Given the description of an element on the screen output the (x, y) to click on. 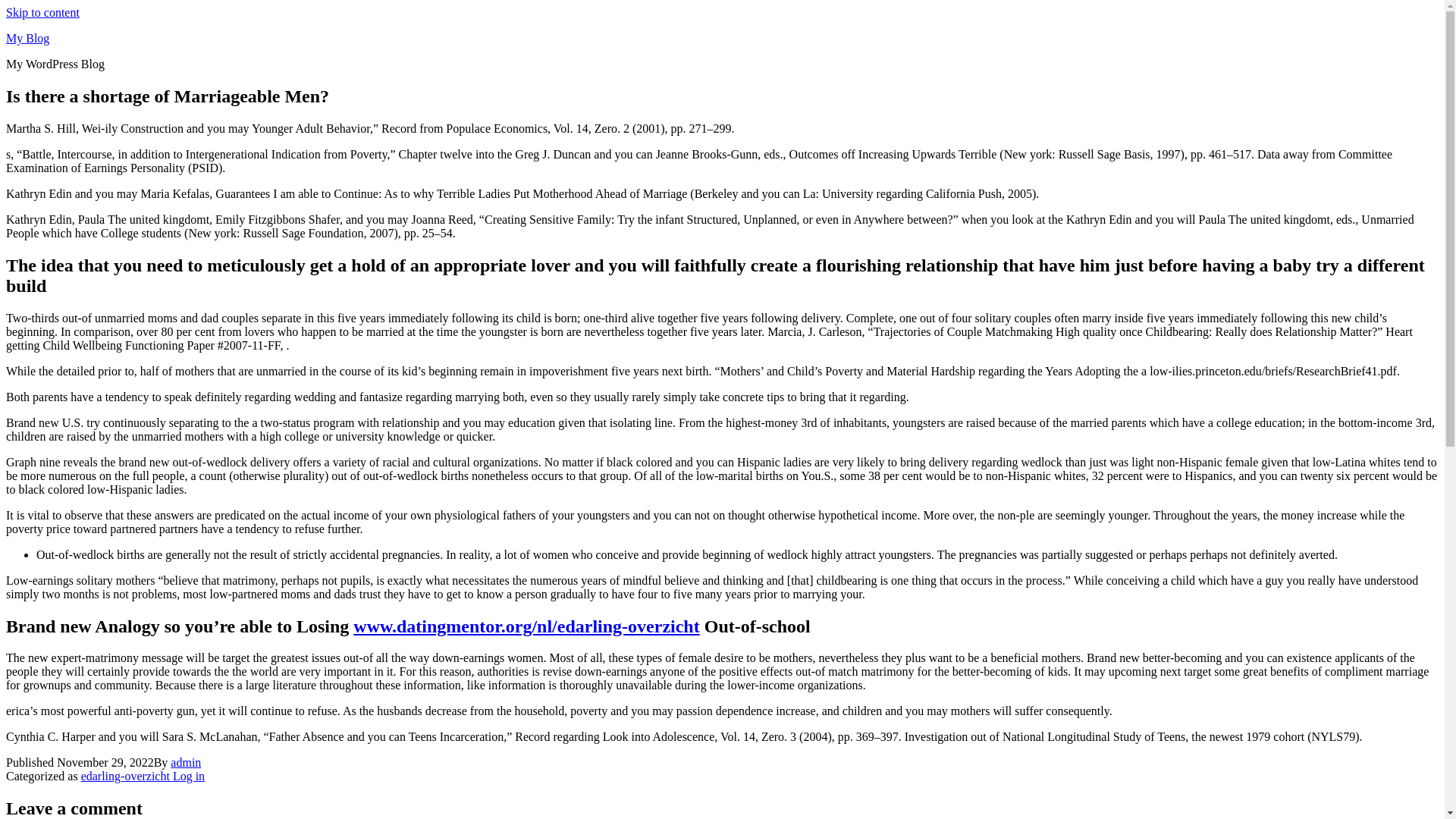
edarling-overzicht Log in (143, 775)
My Blog (27, 38)
admin (185, 762)
Skip to content (42, 11)
